Given the description of an element on the screen output the (x, y) to click on. 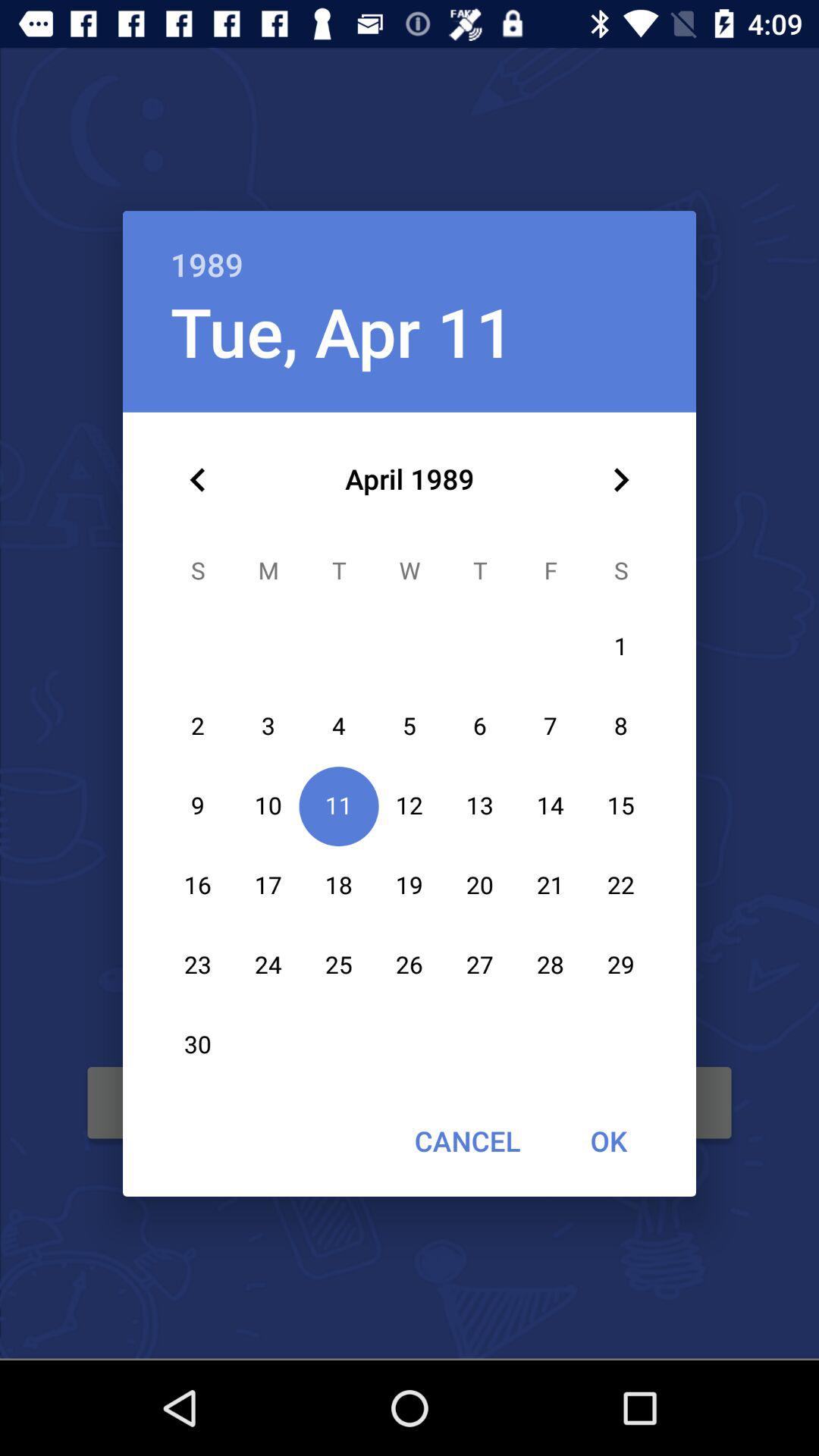
select the cancel item (467, 1140)
